Given the description of an element on the screen output the (x, y) to click on. 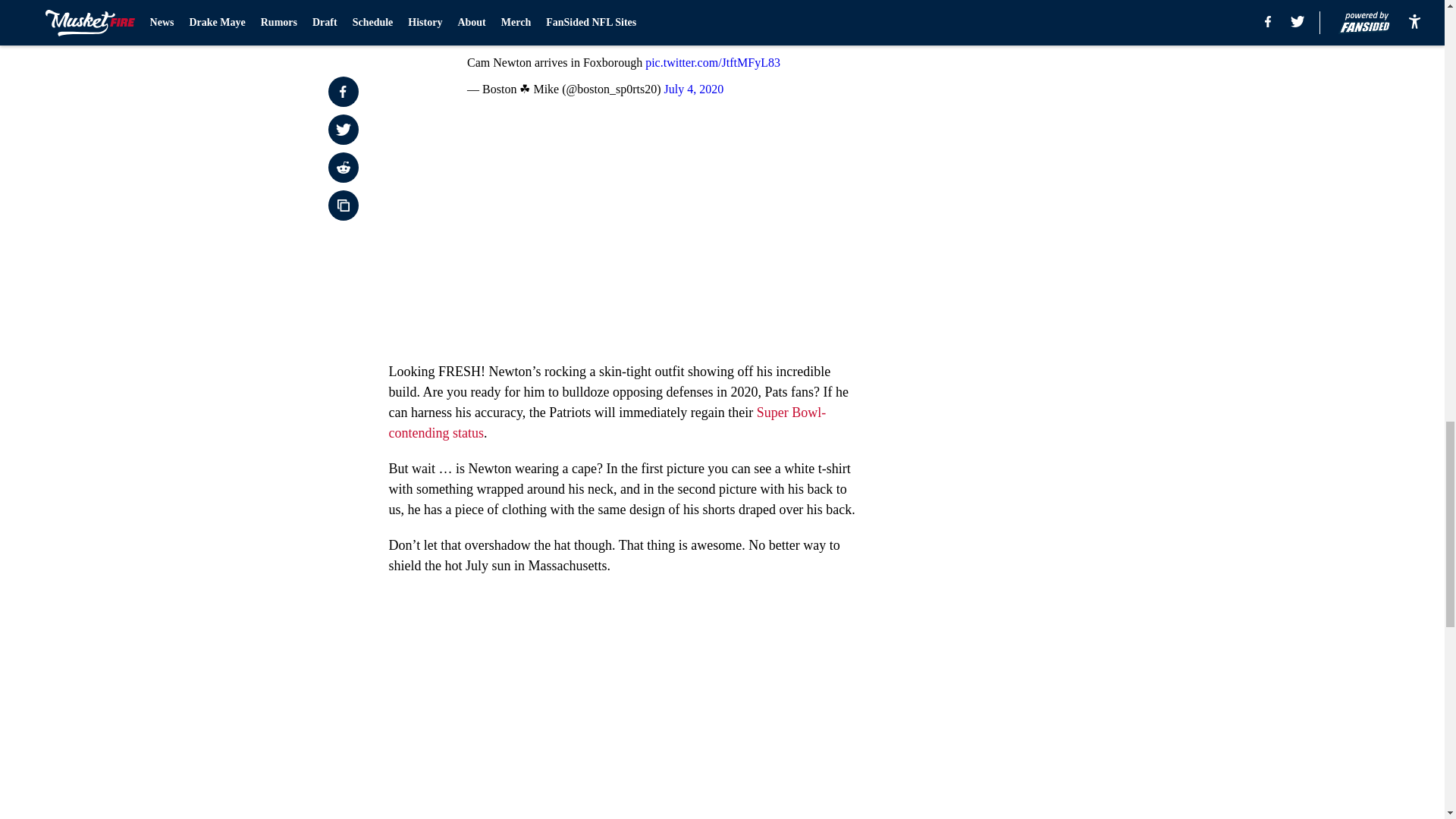
Super Bowl-contending status (606, 422)
July 4, 2020 (693, 88)
